Given the description of an element on the screen output the (x, y) to click on. 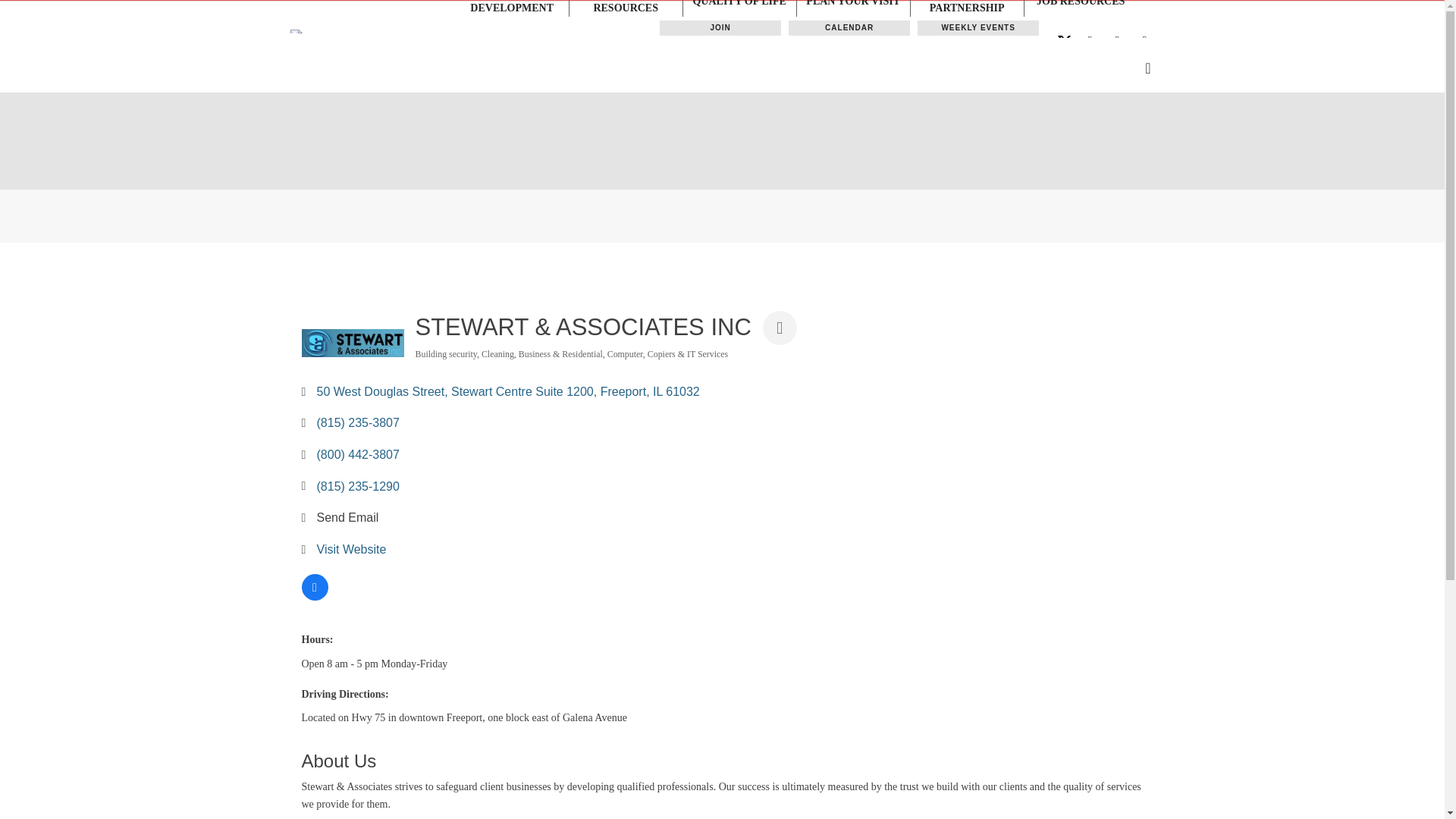
View on Facebook (315, 595)
